Given the description of an element on the screen output the (x, y) to click on. 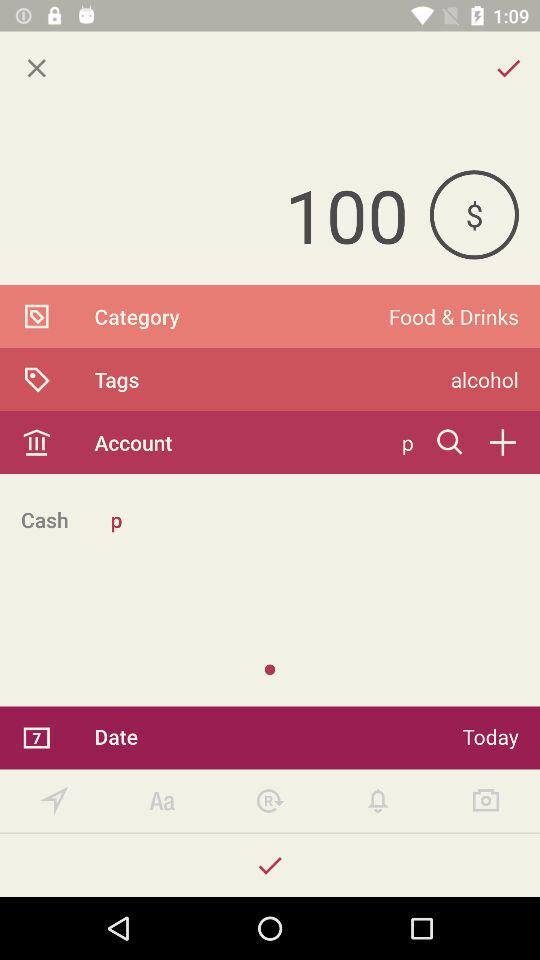
tap the item to the left of $ icon (214, 214)
